Given the description of an element on the screen output the (x, y) to click on. 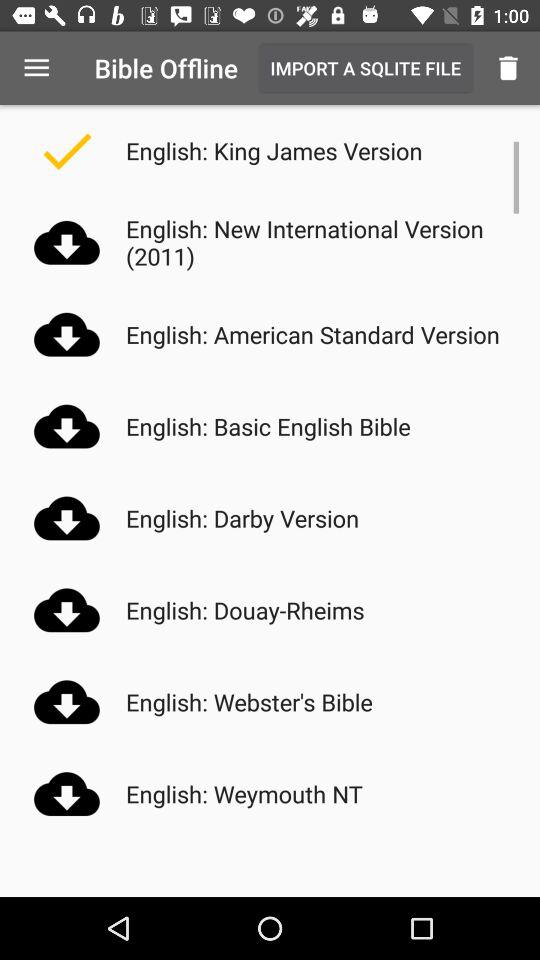
press item above english king james item (365, 67)
